Given the description of an element on the screen output the (x, y) to click on. 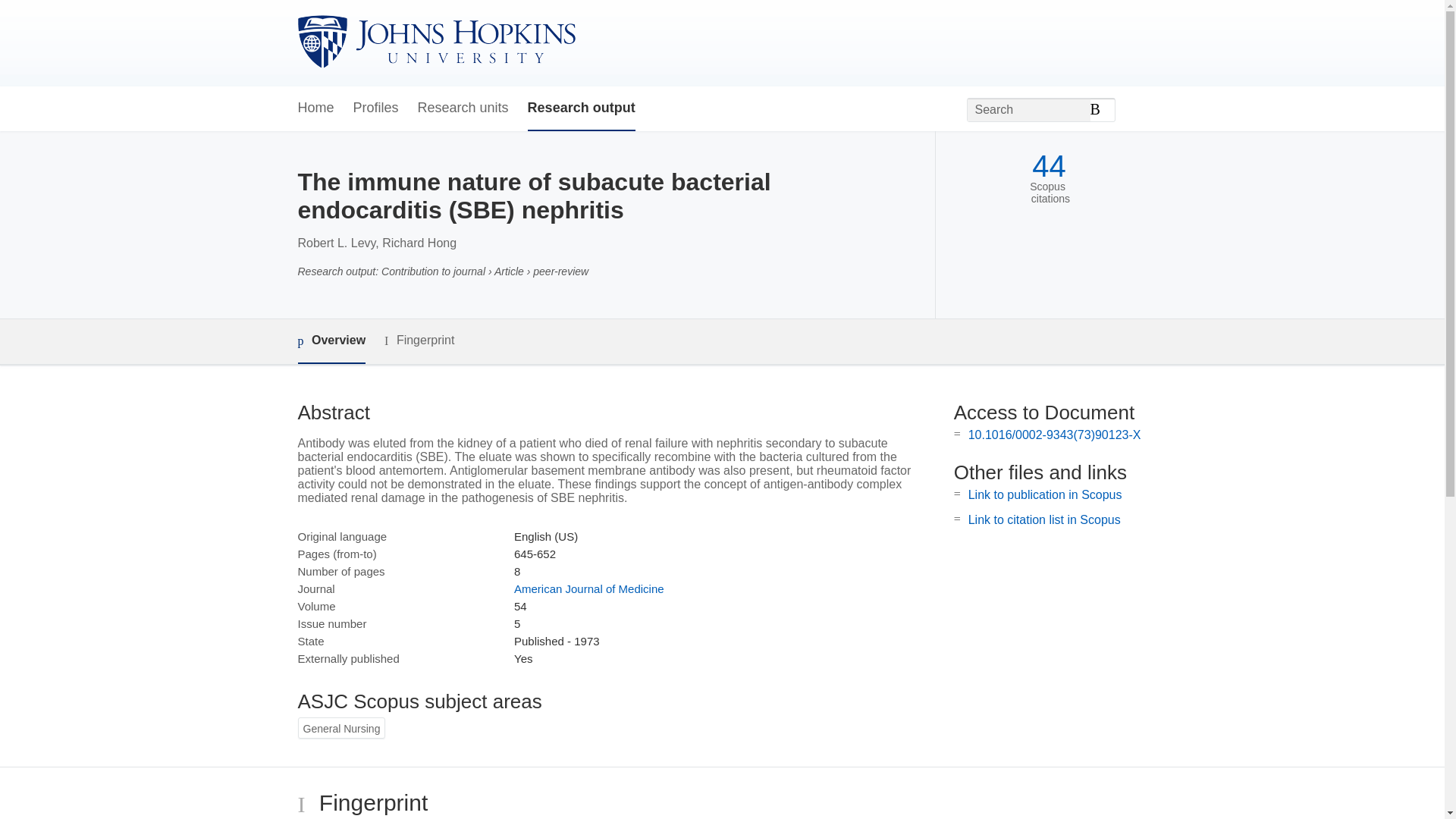
Link to publication in Scopus (1045, 494)
44 (1048, 166)
Johns Hopkins University Home (436, 43)
American Journal of Medicine (588, 588)
Profiles (375, 108)
Link to citation list in Scopus (1044, 519)
Research units (462, 108)
Research output (580, 108)
Overview (331, 341)
Fingerprint (419, 340)
